Given the description of an element on the screen output the (x, y) to click on. 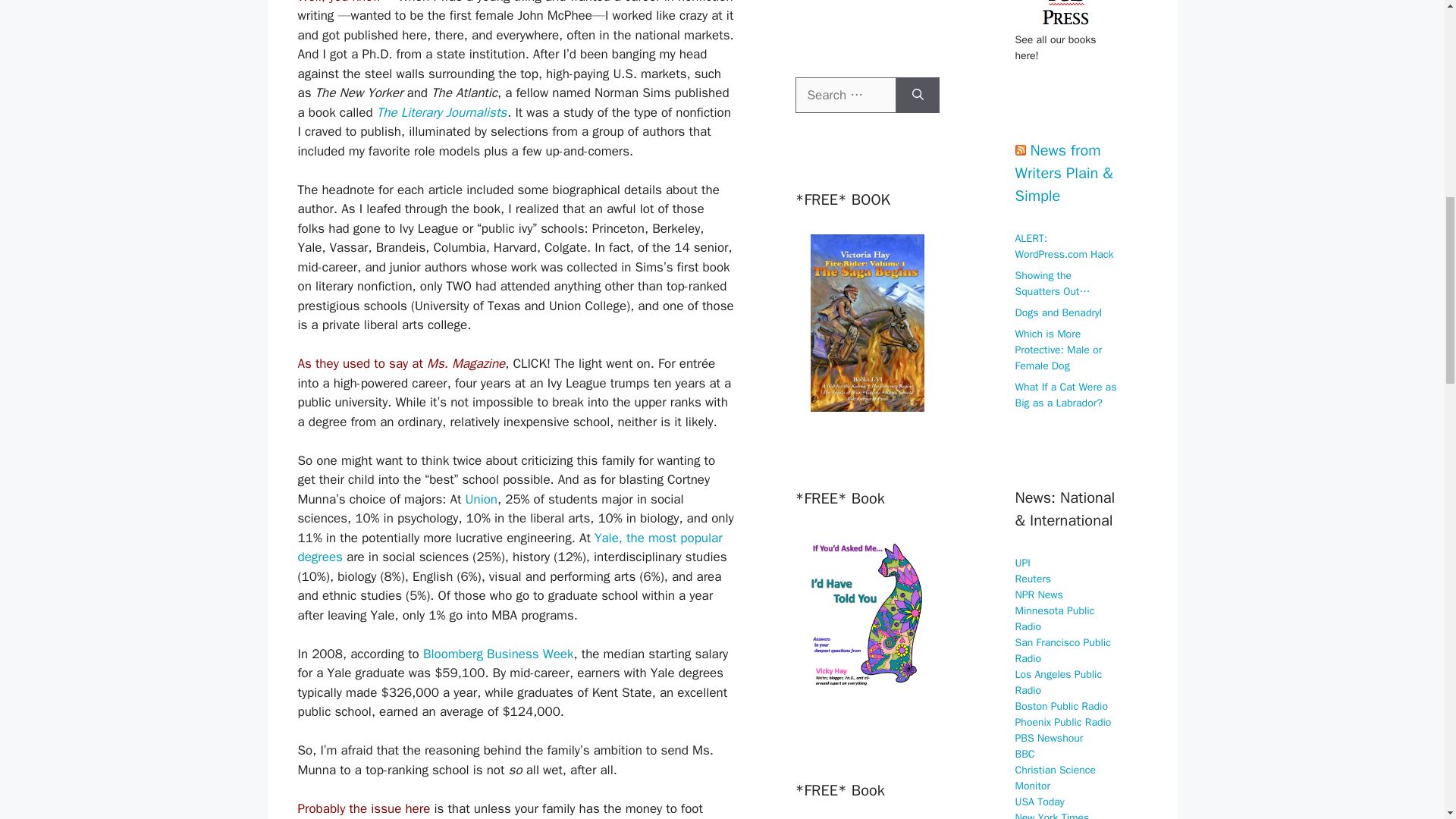
Search for: (844, 94)
Union (481, 498)
The Literary Journalists (441, 112)
ALERT: WordPress.com Hack (1063, 246)
Which is More Protective: Male or Female Dog (1058, 349)
San Francisco Public Radio (1061, 649)
What If a Cat Were as Big as a Labrador? (1065, 394)
Yale, the most popular degrees (509, 547)
Bloomberg Business Week (498, 653)
Los Angeles Public Radio (1058, 681)
Dogs and Benadryl (1058, 312)
NPR News (1038, 594)
Reuters (1032, 577)
UPI (1021, 562)
Minnesota Public Radio (1054, 617)
